Given the description of an element on the screen output the (x, y) to click on. 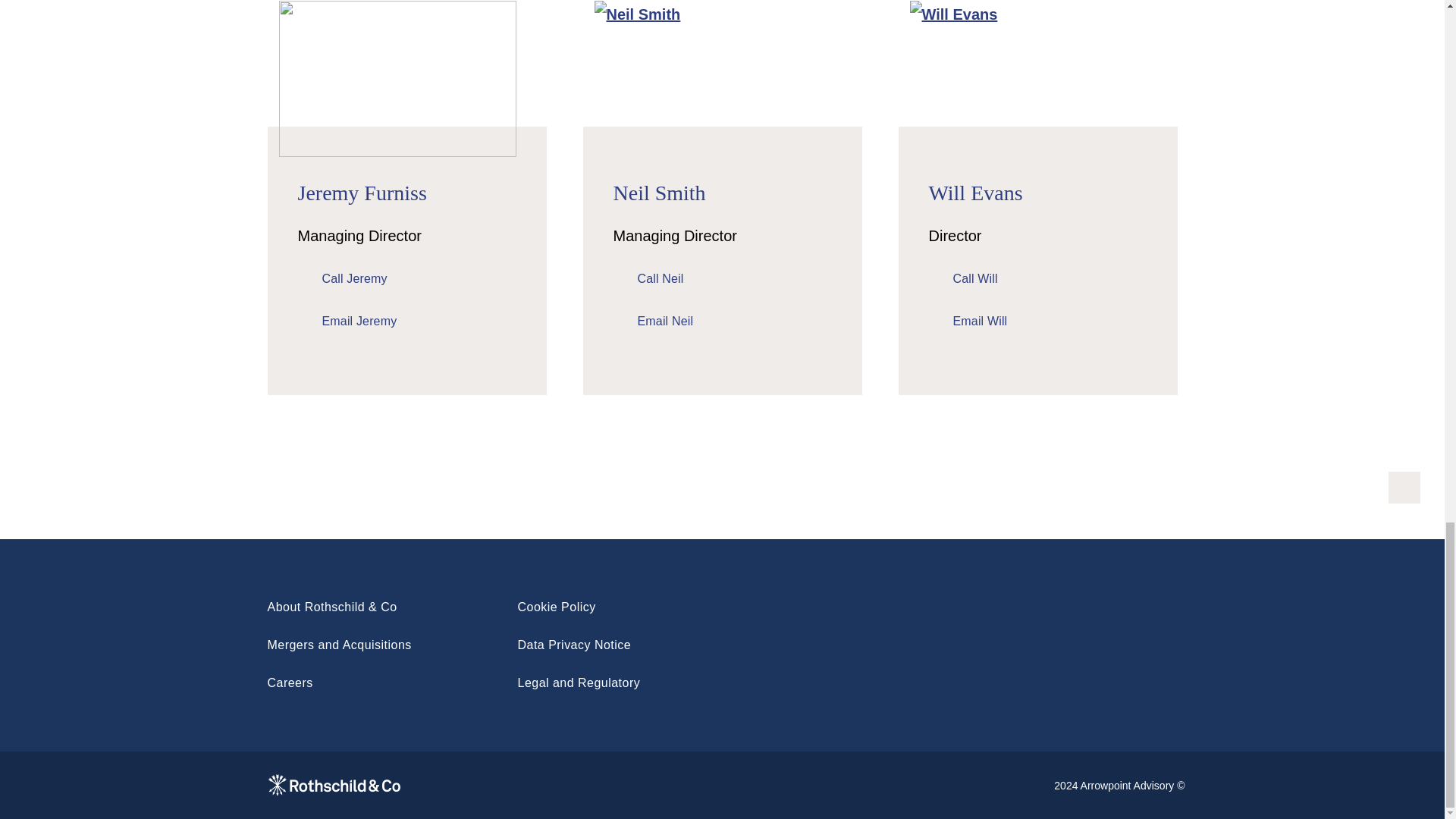
Email Neil (652, 321)
Email Will (967, 321)
Will Evans (975, 192)
Call Will (962, 278)
Call Jeremy (342, 278)
Neil Smith (658, 192)
Email Jeremy (346, 321)
Call Neil (647, 278)
Jeremy Furniss (361, 192)
